Given the description of an element on the screen output the (x, y) to click on. 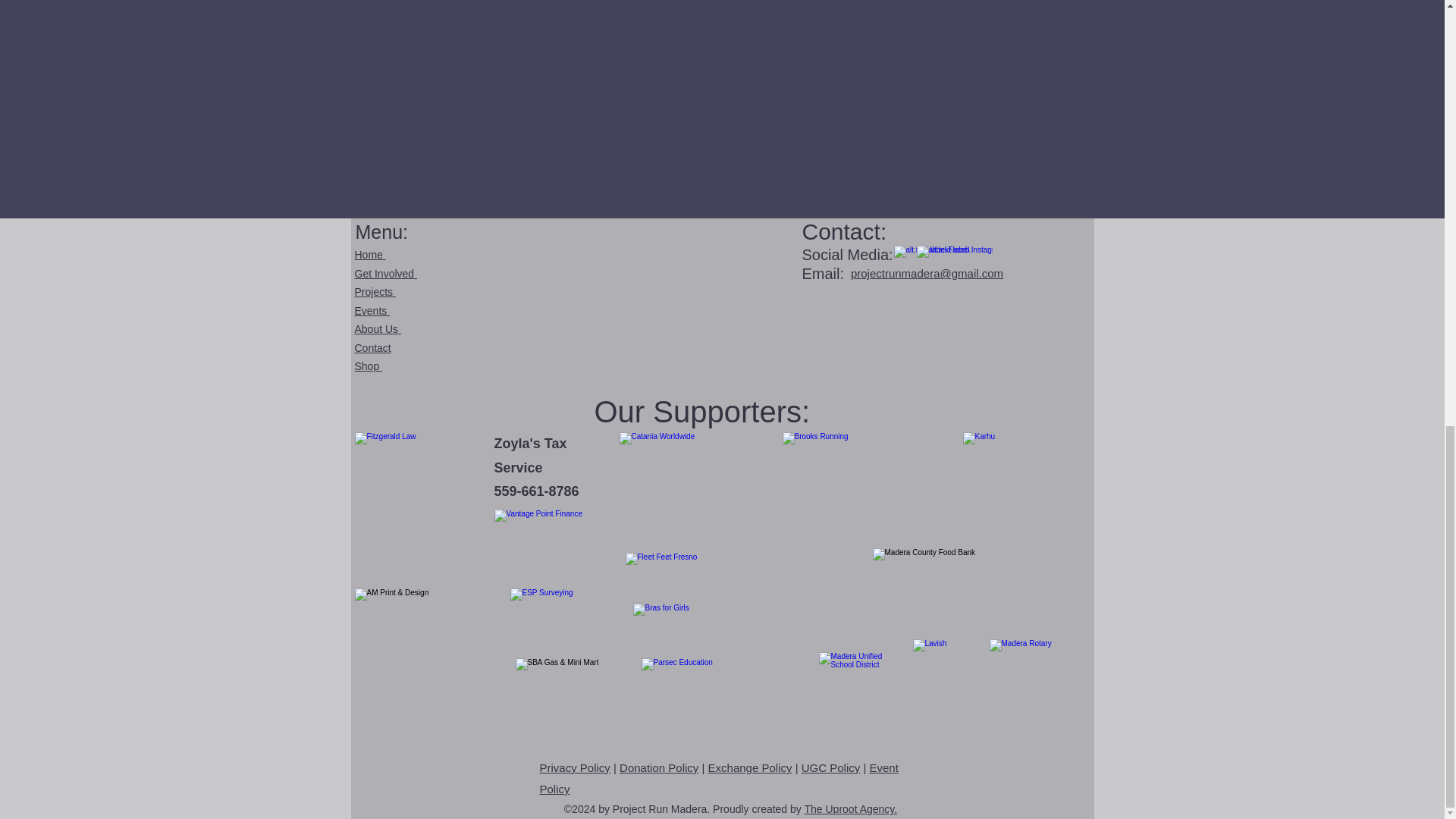
Fleet Feet Fresno (743, 576)
Brooks Running (868, 471)
Madera Rotary (1022, 674)
Projects  (375, 291)
Karhu (1005, 475)
Madera County Food Bank (974, 588)
Fitzgerald Law (422, 490)
Home  (370, 254)
Parsec Education (730, 695)
Lavish (945, 672)
